Given the description of an element on the screen output the (x, y) to click on. 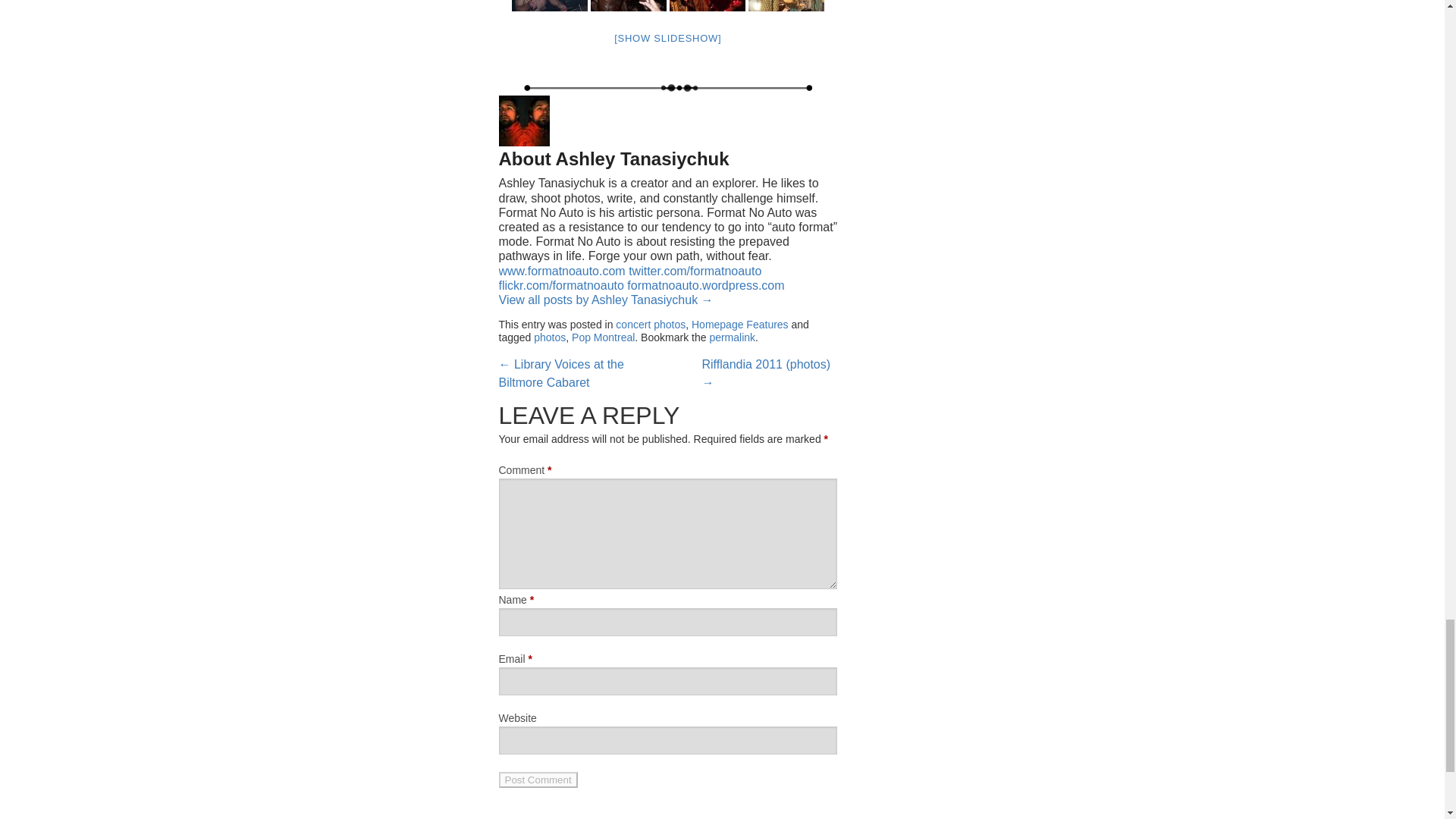
Post Comment (538, 779)
